Given the description of an element on the screen output the (x, y) to click on. 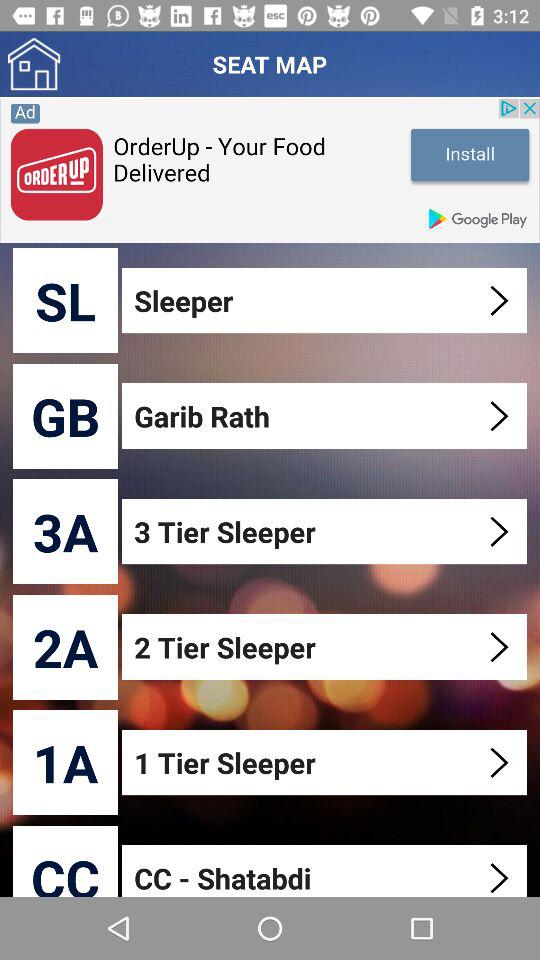
turn off item above the sl icon (269, 170)
